Given the description of an element on the screen output the (x, y) to click on. 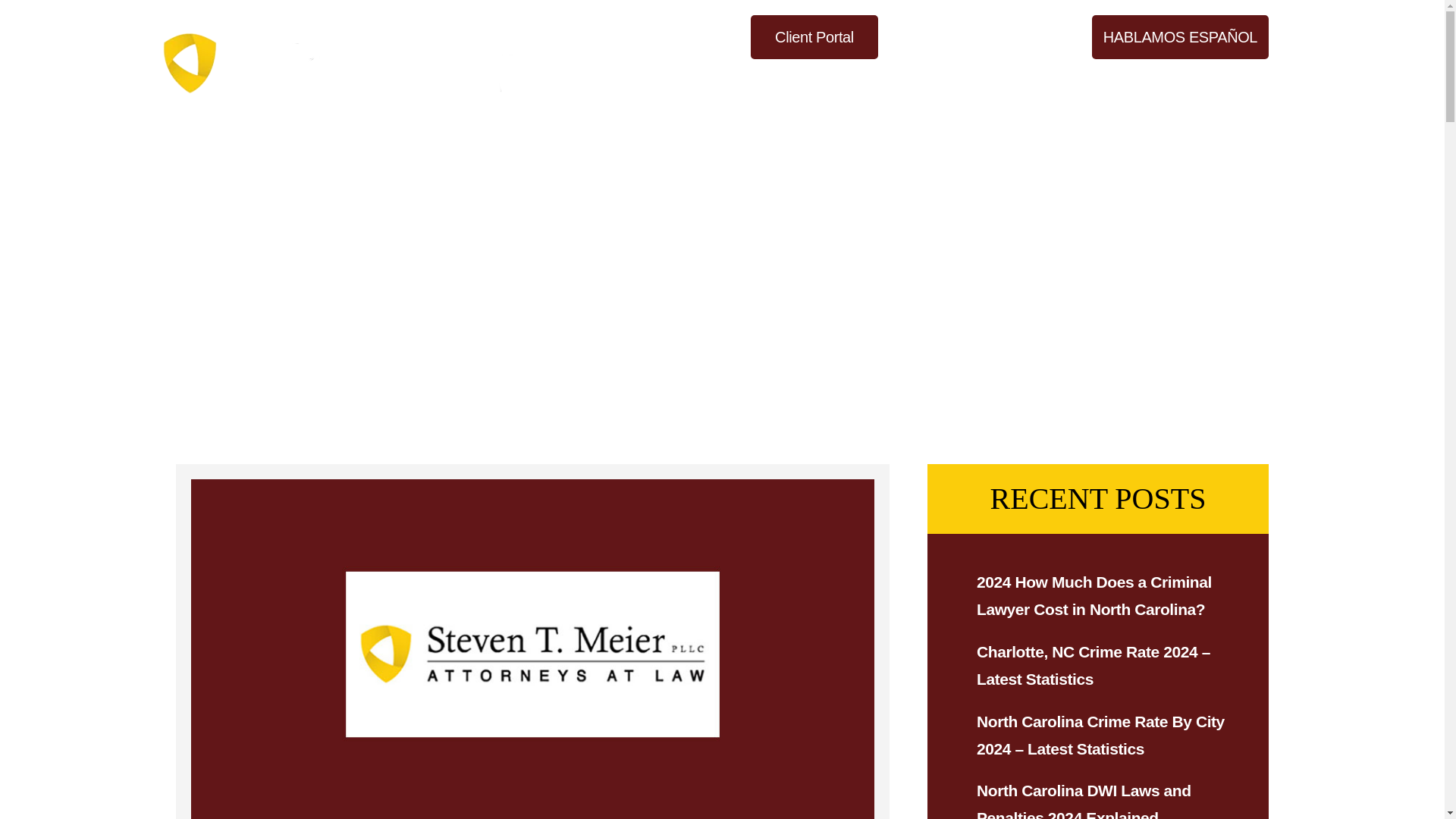
704-333-3456 (984, 36)
Client Portal (814, 36)
Home (769, 81)
Contact Us (1232, 81)
Locations (1045, 81)
Practice Areas (943, 81)
Resources (1137, 81)
About Us (842, 81)
